Given the description of an element on the screen output the (x, y) to click on. 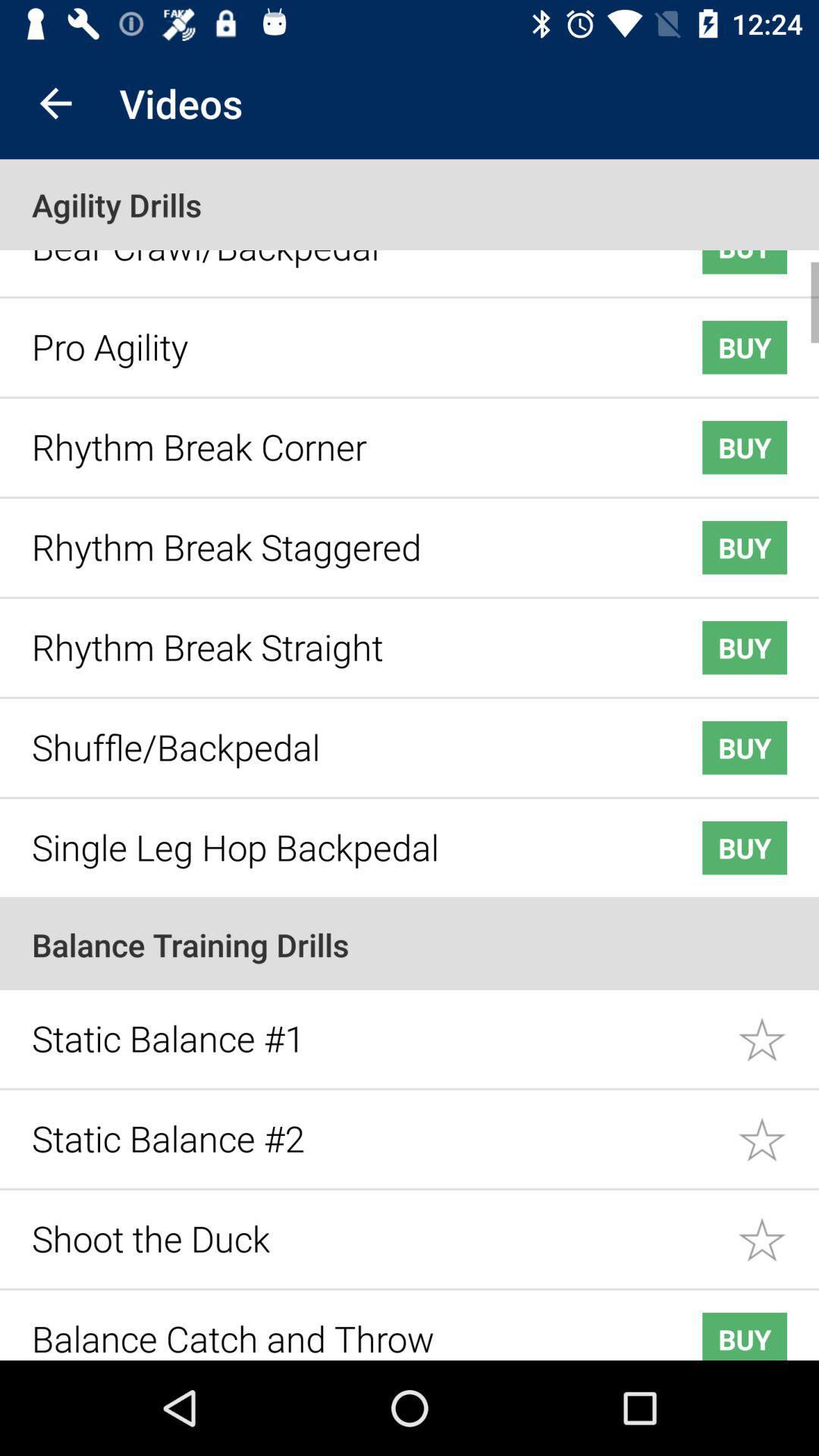
tap item below static balance #2 (376, 1227)
